Given the description of an element on the screen output the (x, y) to click on. 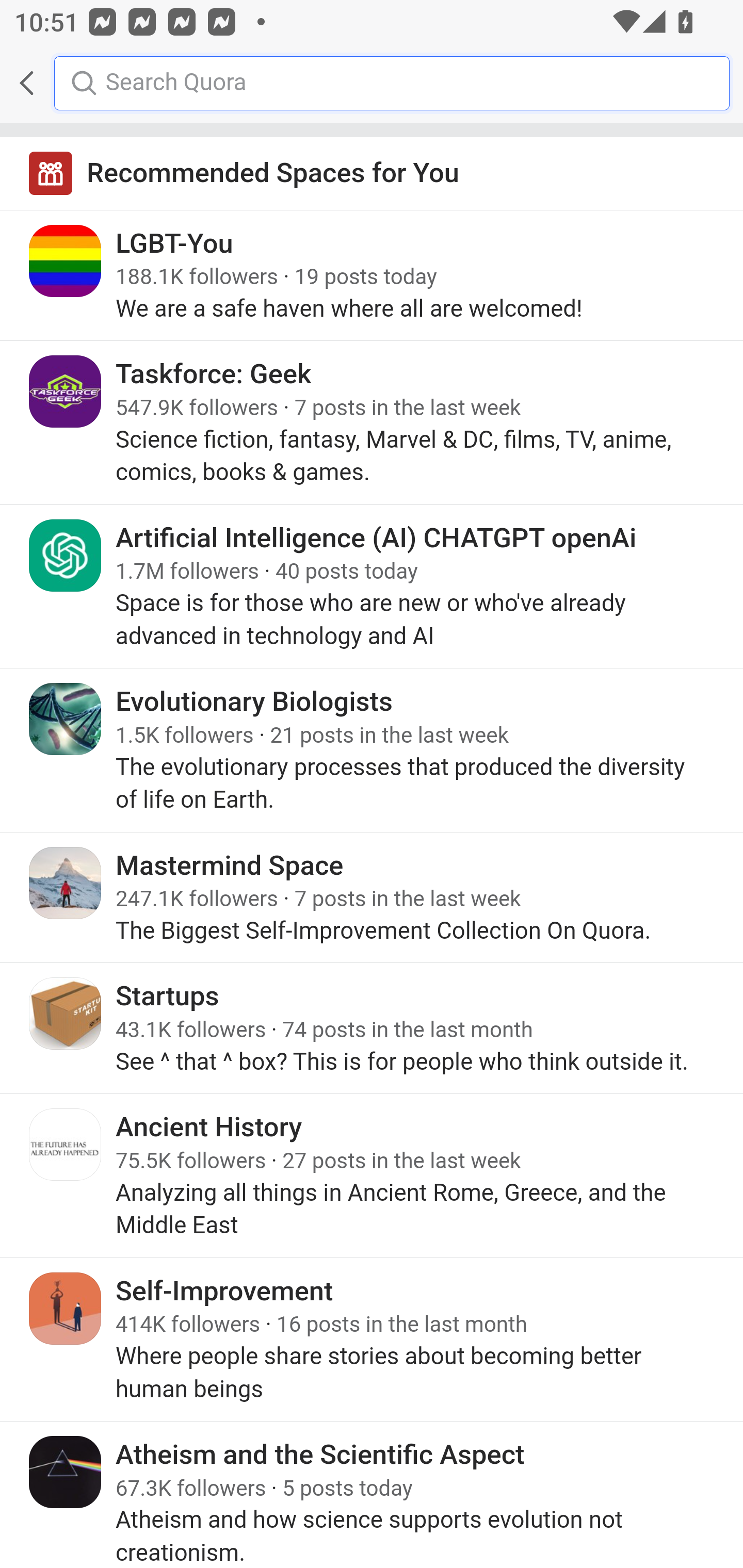
Me Home Search Add (371, 82)
Icon for LGBT-You (65, 260)
Icon for Taskforce: Geek (65, 391)
Icon for Evolutionary Biologists (65, 718)
Icon for Mastermind Space (65, 882)
Icon for Startups (65, 1013)
Icon for Ancient History (65, 1145)
Icon for Self-Improvement (65, 1308)
Icon for Atheism and the Scientific Aspect (65, 1471)
